Given the description of an element on the screen output the (x, y) to click on. 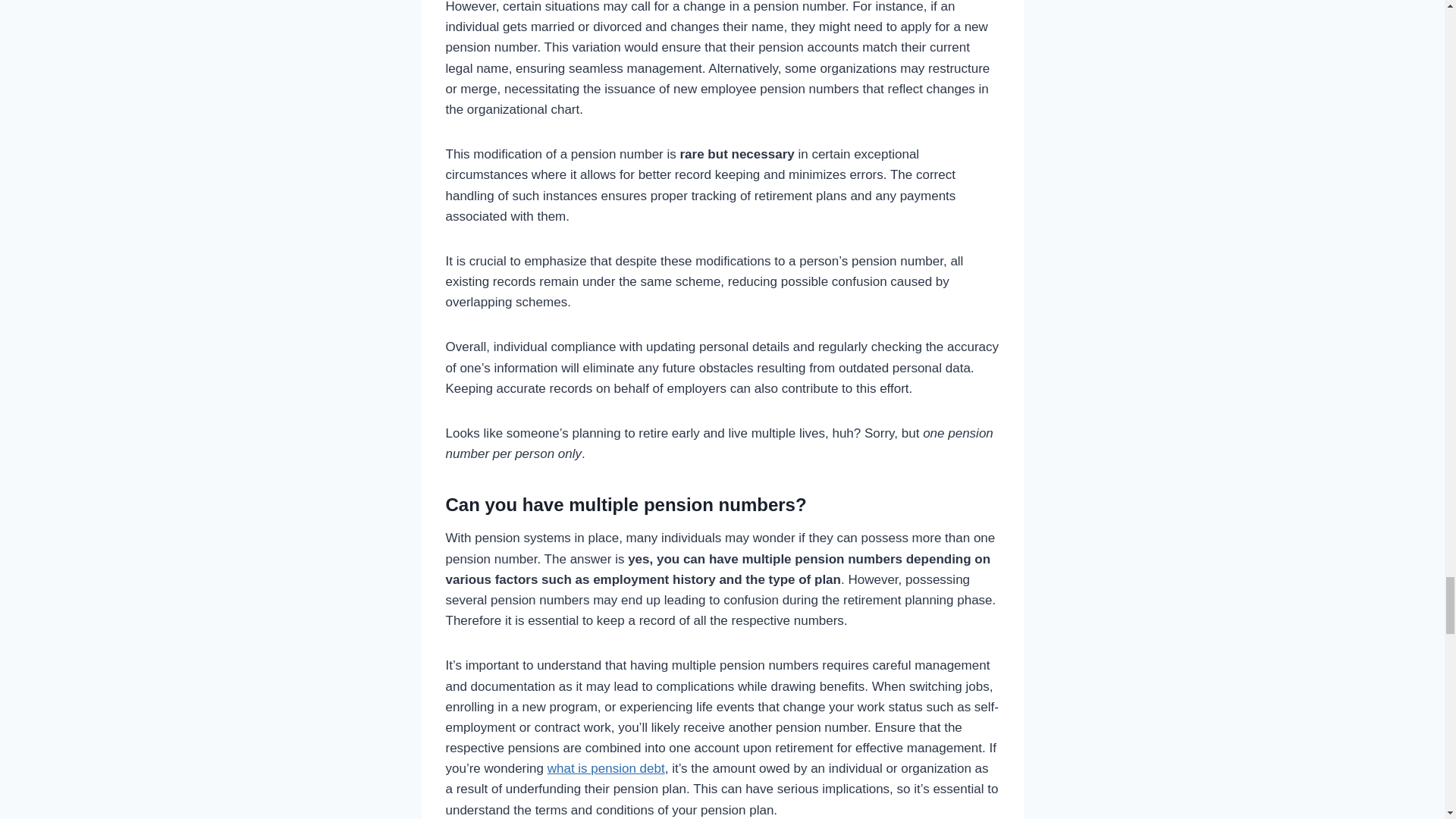
what is pension debt (606, 768)
